Given the description of an element on the screen output the (x, y) to click on. 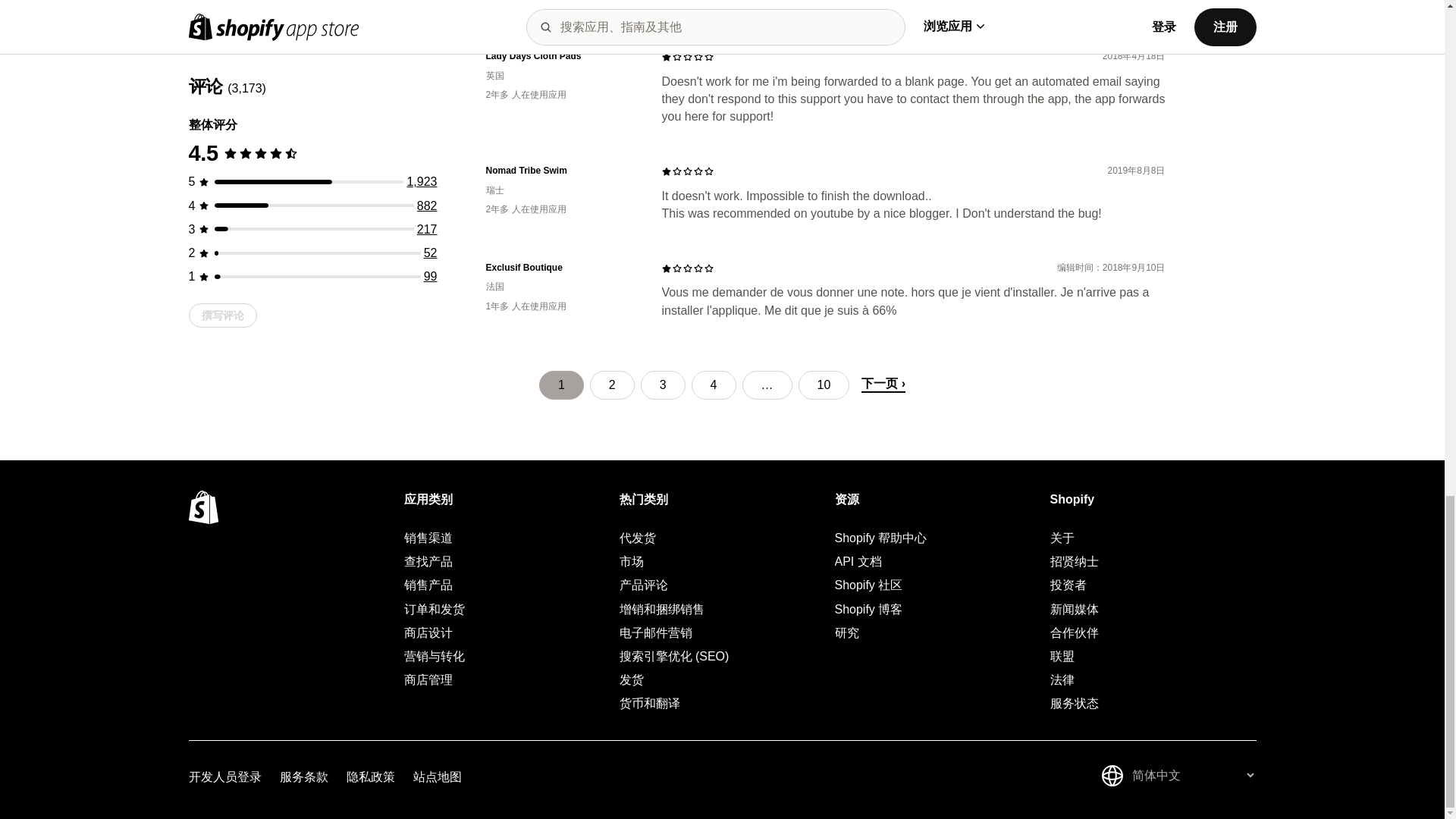
Exclusif Boutique (560, 267)
Nomad Tribe Swim (560, 170)
Lady Days Cloth Pads (560, 56)
